Given the description of an element on the screen output the (x, y) to click on. 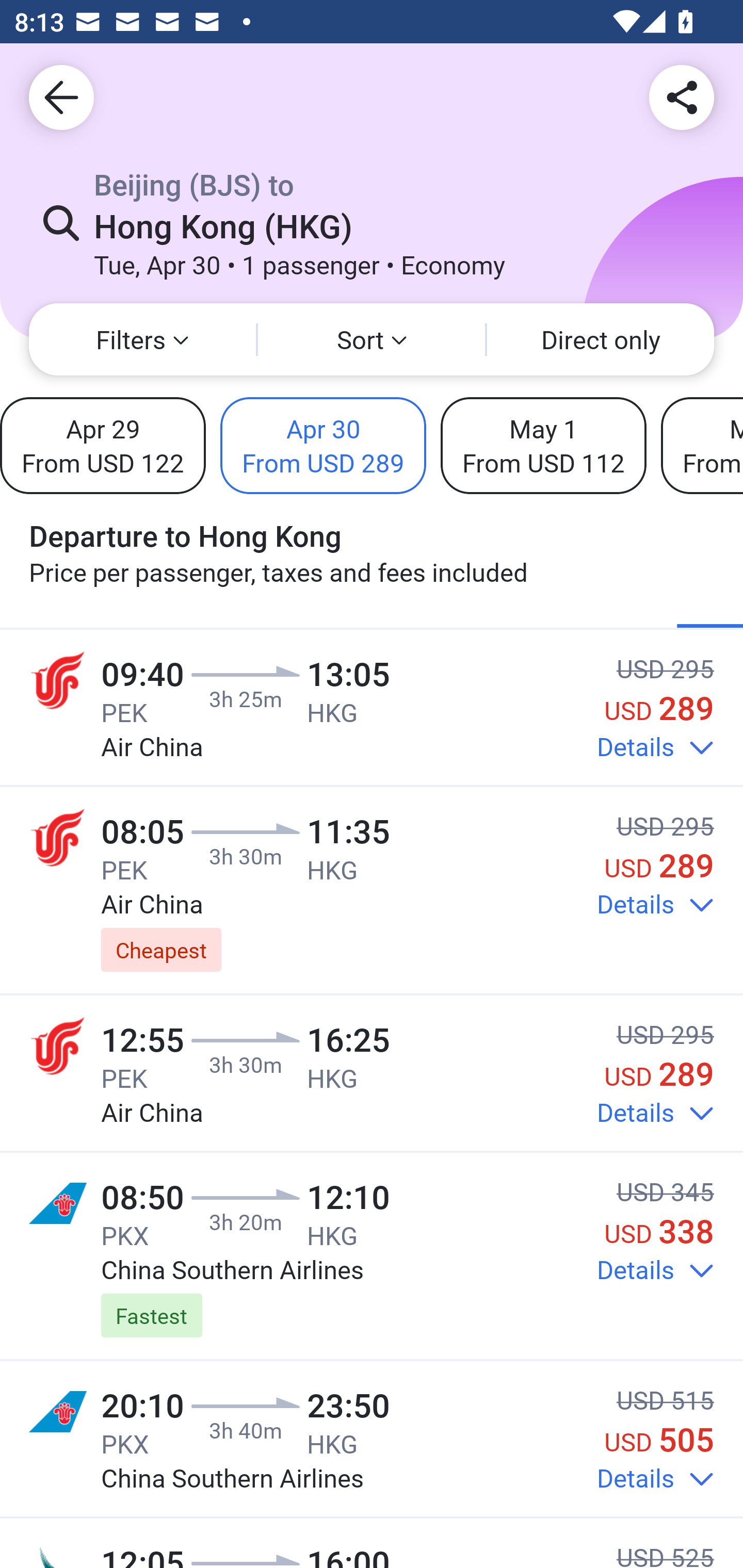
Filters (141, 339)
Sort (371, 339)
Direct only (600, 339)
Apr 29 From USD 122 (102, 444)
Apr 30 From USD 289 (323, 444)
May 1 From USD 112 (543, 444)
